Given the description of an element on the screen output the (x, y) to click on. 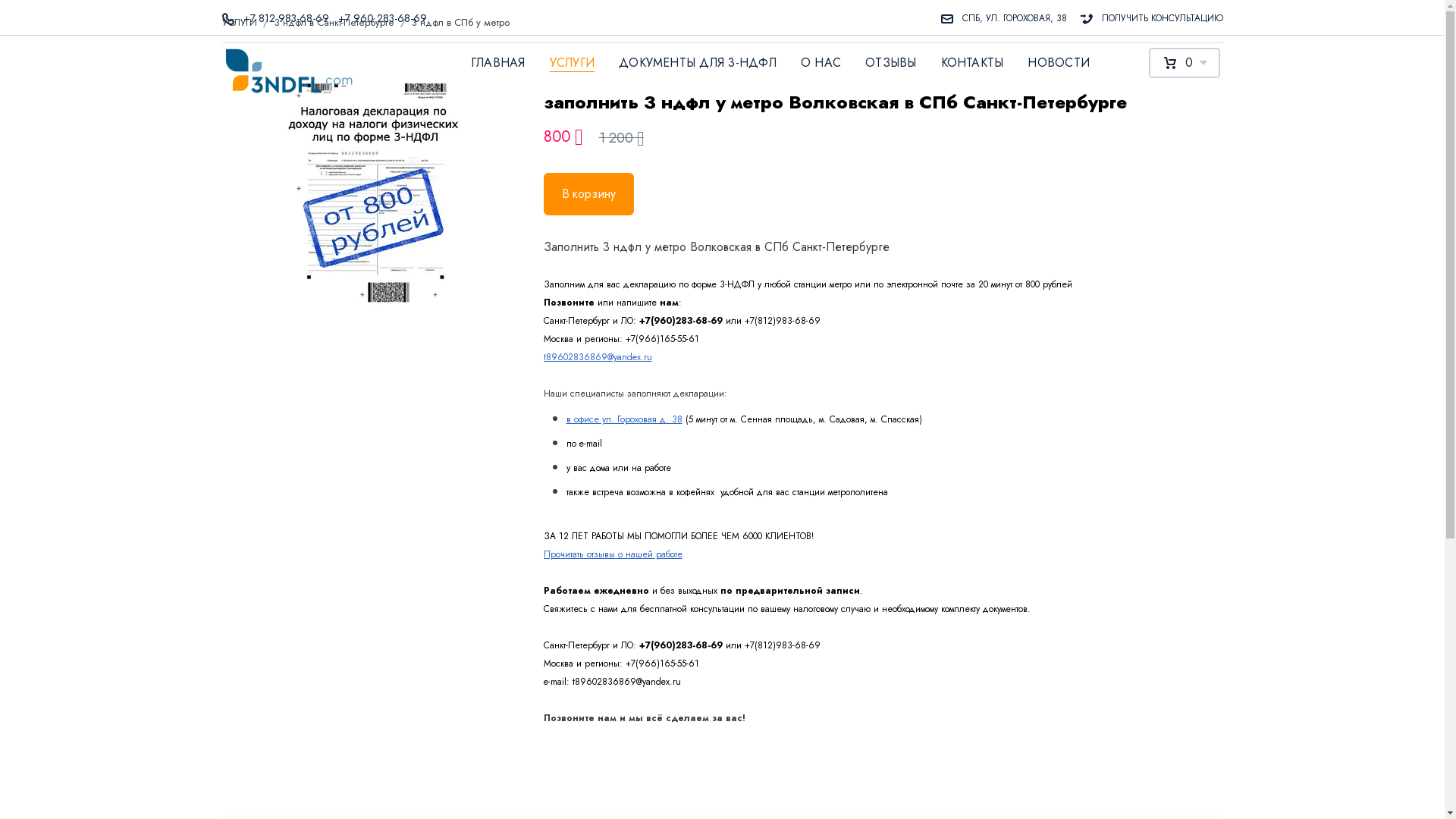
0 Element type: text (1183, 62)
+7 960 283-68-69 Element type: text (377, 18)
+7 812 983-68-69 Element type: text (280, 18)
t89602836869@yandex.ru Element type: text (596, 357)
